Given the description of an element on the screen output the (x, y) to click on. 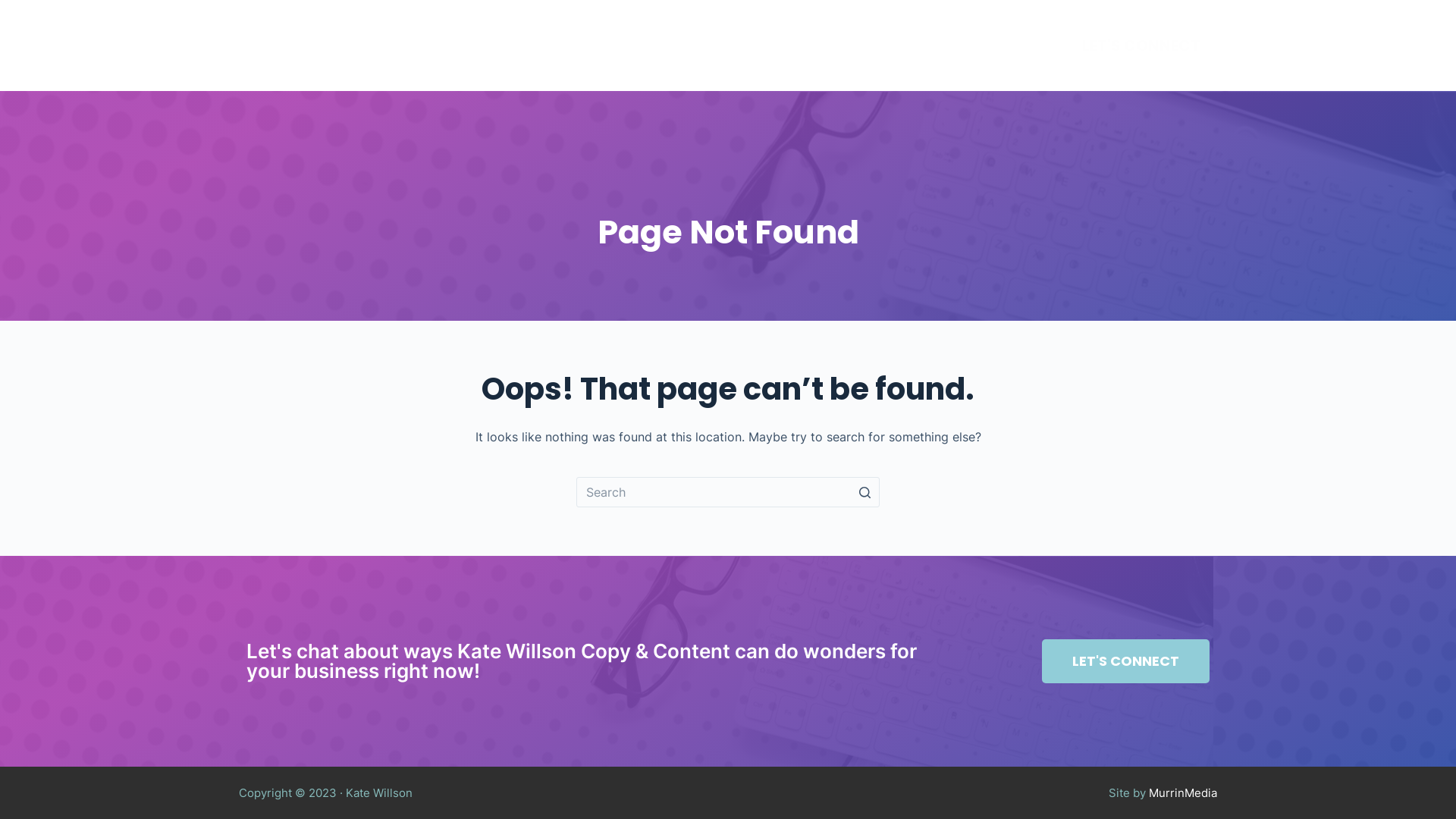
Search for... Element type: hover (727, 491)
ABOUT KATE Element type: text (784, 45)
HOME Element type: text (695, 45)
LET'S CONNECT Element type: text (1125, 660)
MurrinMedia Element type: text (1182, 792)
LET'S CONNECT Element type: text (1141, 44)
WHAT I DO Element type: text (898, 45)
Skip to content Element type: text (15, 7)
